Given the description of an element on the screen output the (x, y) to click on. 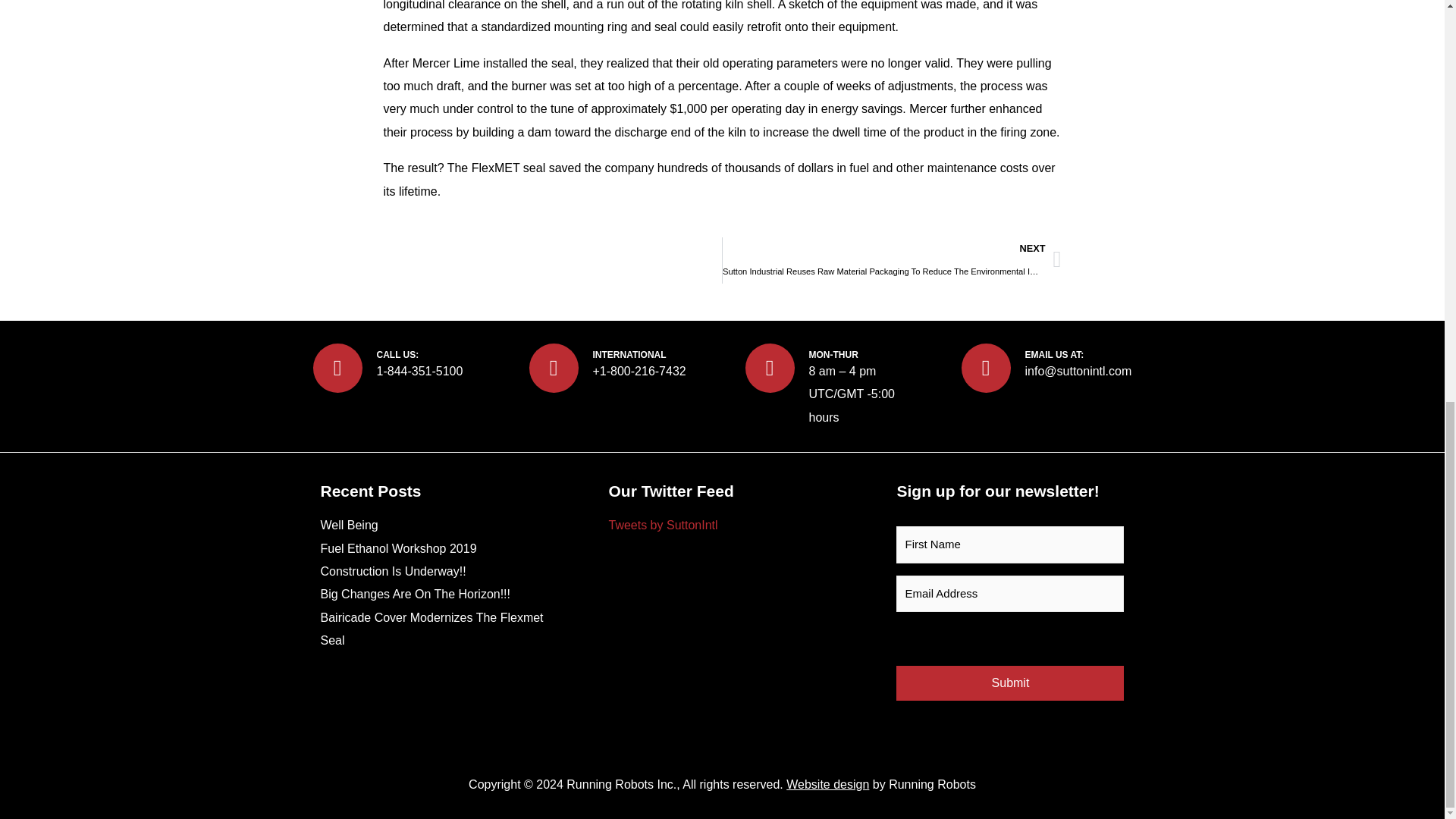
INTERNATIONAL (629, 354)
Submit (1010, 683)
Fuel Ethanol Workshop 2019 (398, 548)
CALL US: (397, 354)
Well Being (348, 524)
Construction Is Underway!! (392, 571)
EMAIL US AT: (1054, 354)
Big Changes Are On The Horizon!!! (415, 594)
